Given the description of an element on the screen output the (x, y) to click on. 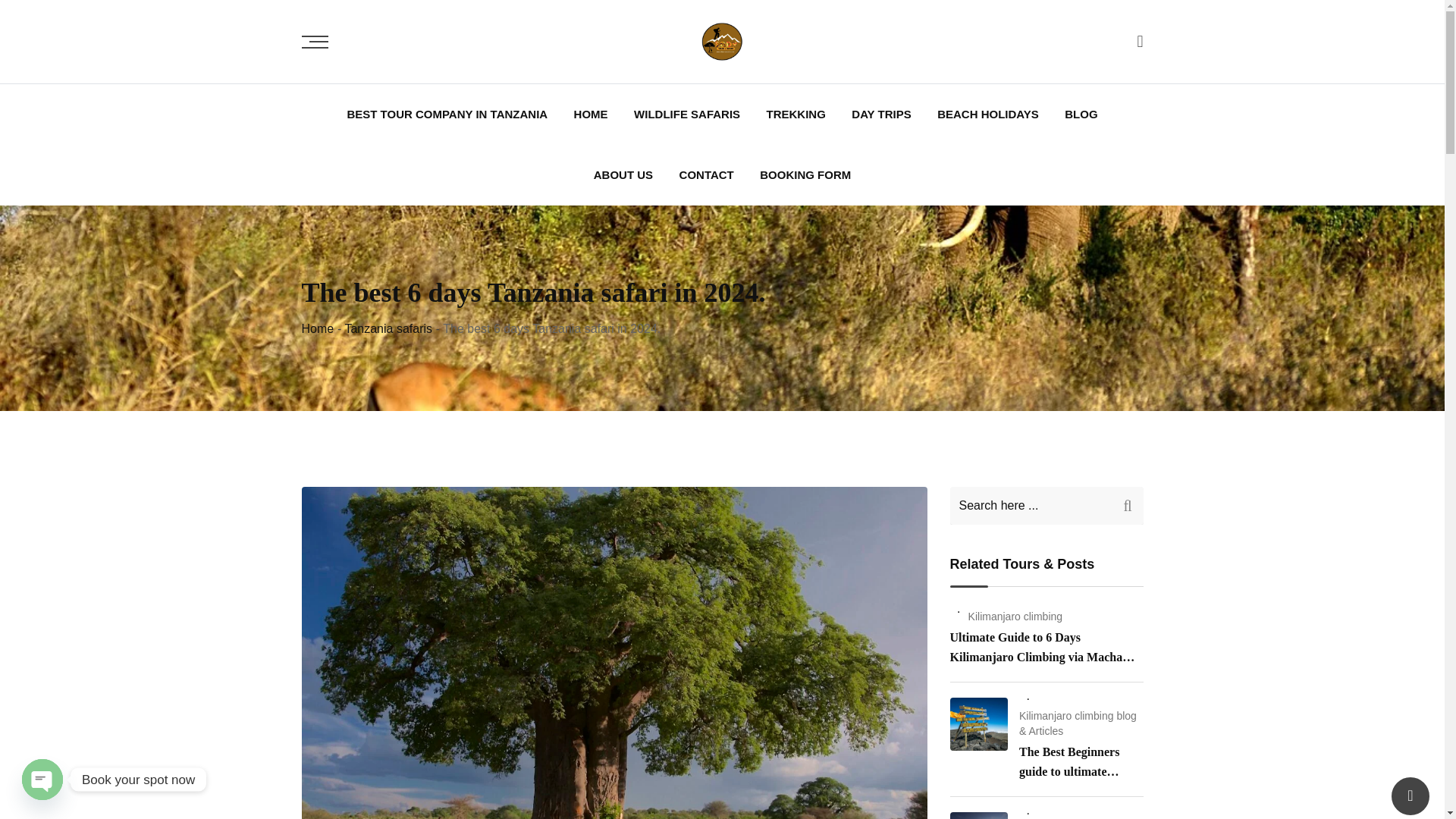
HOME (591, 114)
BOOKING FORM (804, 174)
BEST TOUR COMPANY IN TANZANIA (446, 114)
CONTACT (706, 174)
The Best Ultimate 8 Days Kilimanjaro Climbing Lemosho Route (978, 815)
ABOUT US (622, 174)
DAY TRIPS (880, 114)
BEACH HOLIDAYS (987, 114)
WILDLIFE SAFARIS (687, 114)
